Given the description of an element on the screen output the (x, y) to click on. 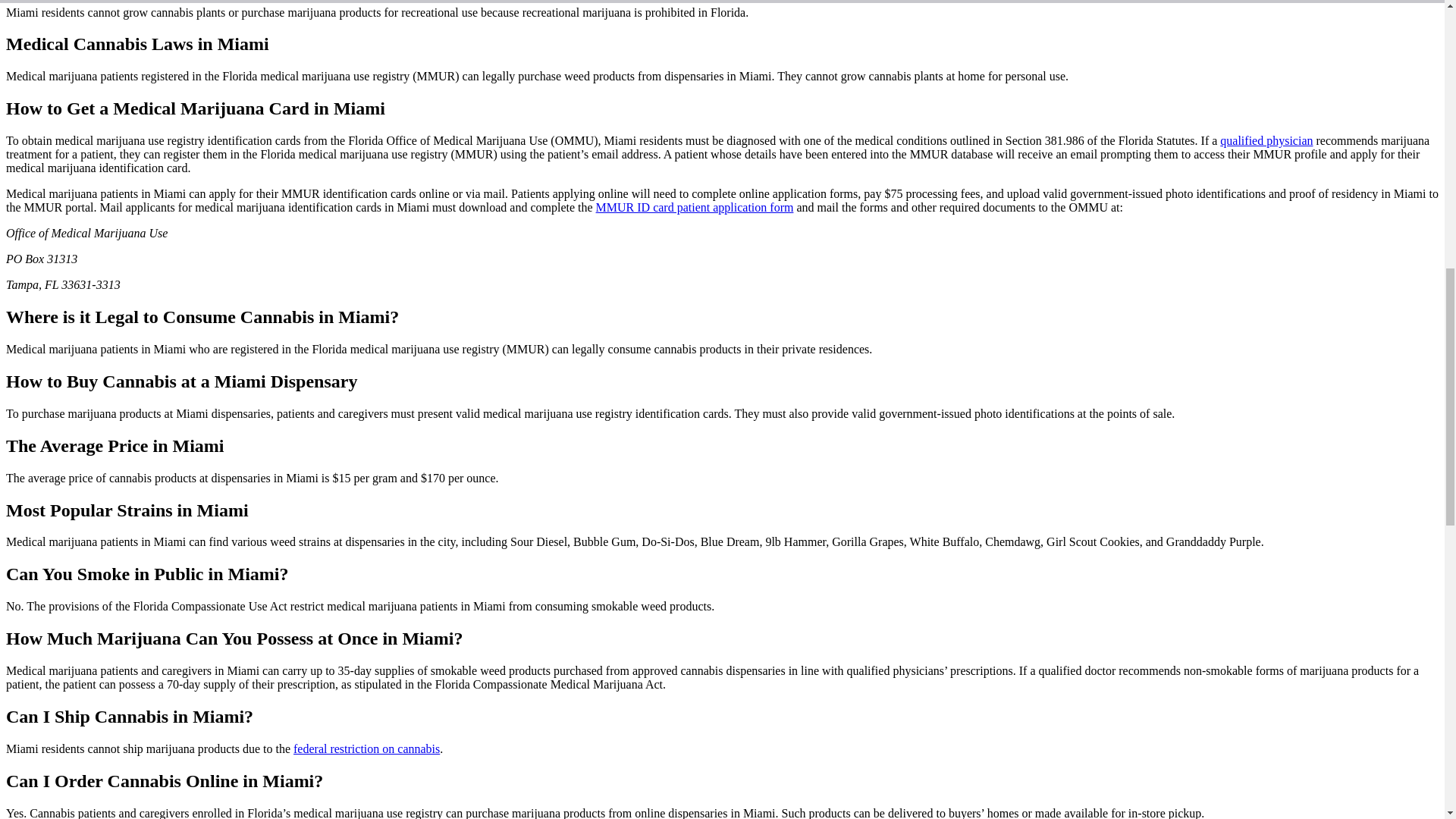
qualified physician (1266, 140)
MMUR ID card patient application form (694, 206)
federal restriction on cannabis (366, 748)
